Given the description of an element on the screen output the (x, y) to click on. 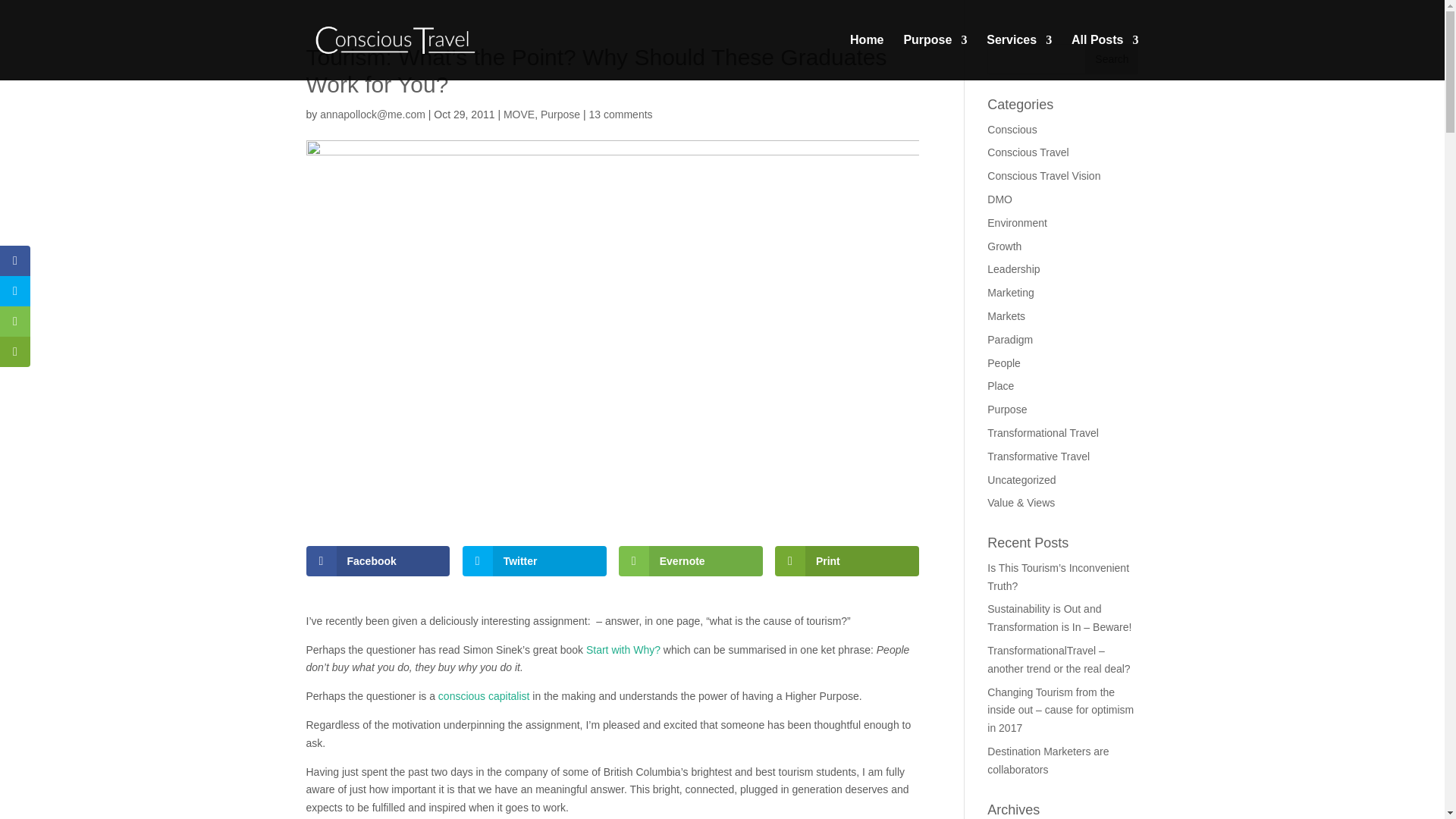
conscious capitalist (483, 695)
Evernote (690, 561)
Purpose (559, 114)
Search (1111, 59)
All Posts (1104, 57)
Print (846, 561)
13 comments (620, 114)
Twitter (535, 561)
Facebook (377, 561)
